Given the description of an element on the screen output the (x, y) to click on. 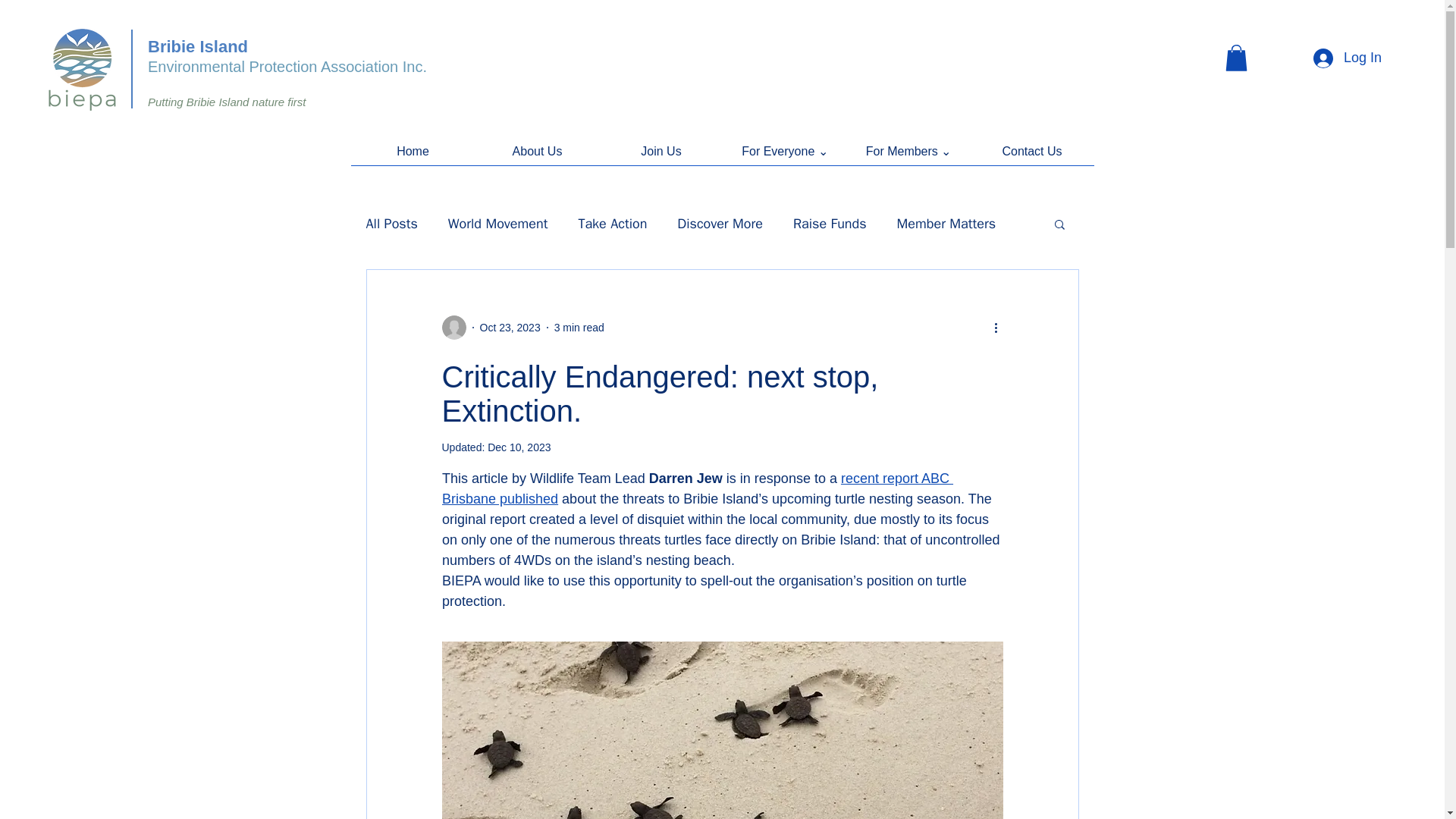
Home (412, 156)
All Posts (390, 223)
Member Matters (945, 223)
About Us (536, 156)
Putting Bribie Island nature first (226, 101)
Environmental Protection Association Inc. (287, 66)
Bribie Island (197, 46)
Contact Us (1032, 156)
3 min read (579, 327)
Discover More (719, 223)
